Given the description of an element on the screen output the (x, y) to click on. 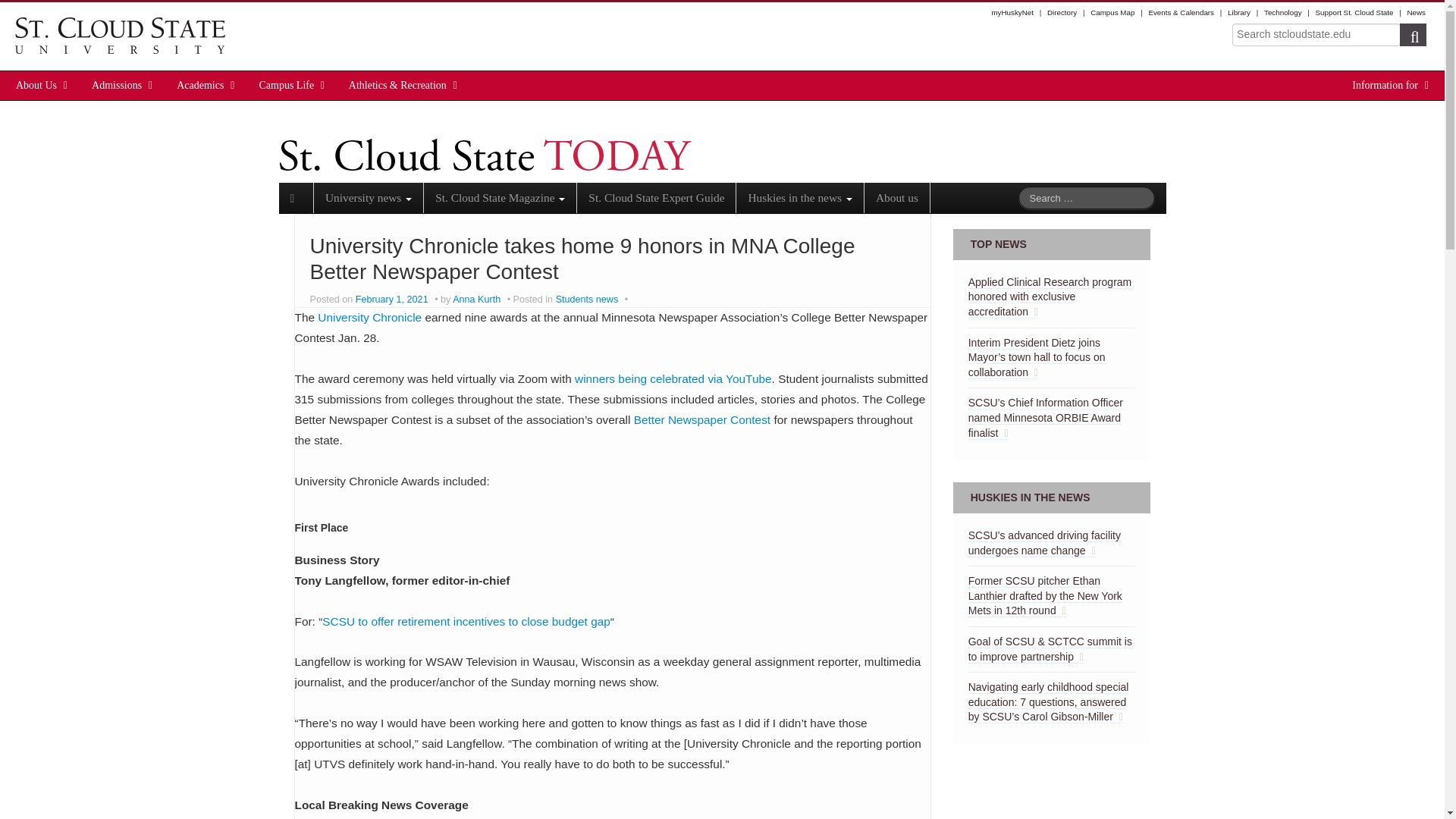
Admissions (116, 85)
View all posts by Anna Kurth (476, 299)
Academics (199, 85)
About Us (36, 85)
9:28 am (392, 299)
Search stcloudstate.edu (1315, 34)
Search stcloudstate.edu (1315, 34)
Campus Life (286, 85)
